Given the description of an element on the screen output the (x, y) to click on. 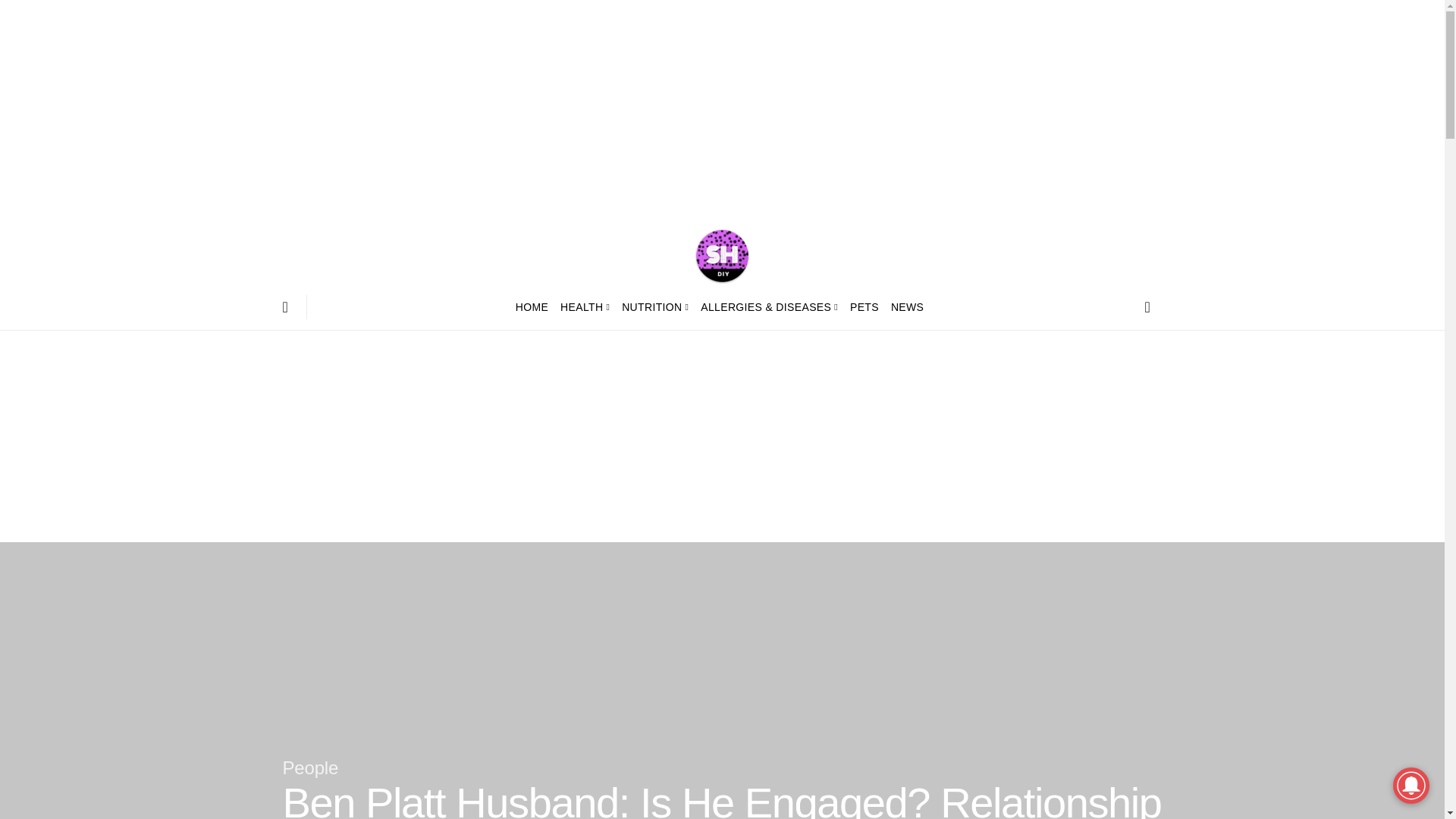
NUTRITION (654, 307)
HEALTH (584, 307)
